Given the description of an element on the screen output the (x, y) to click on. 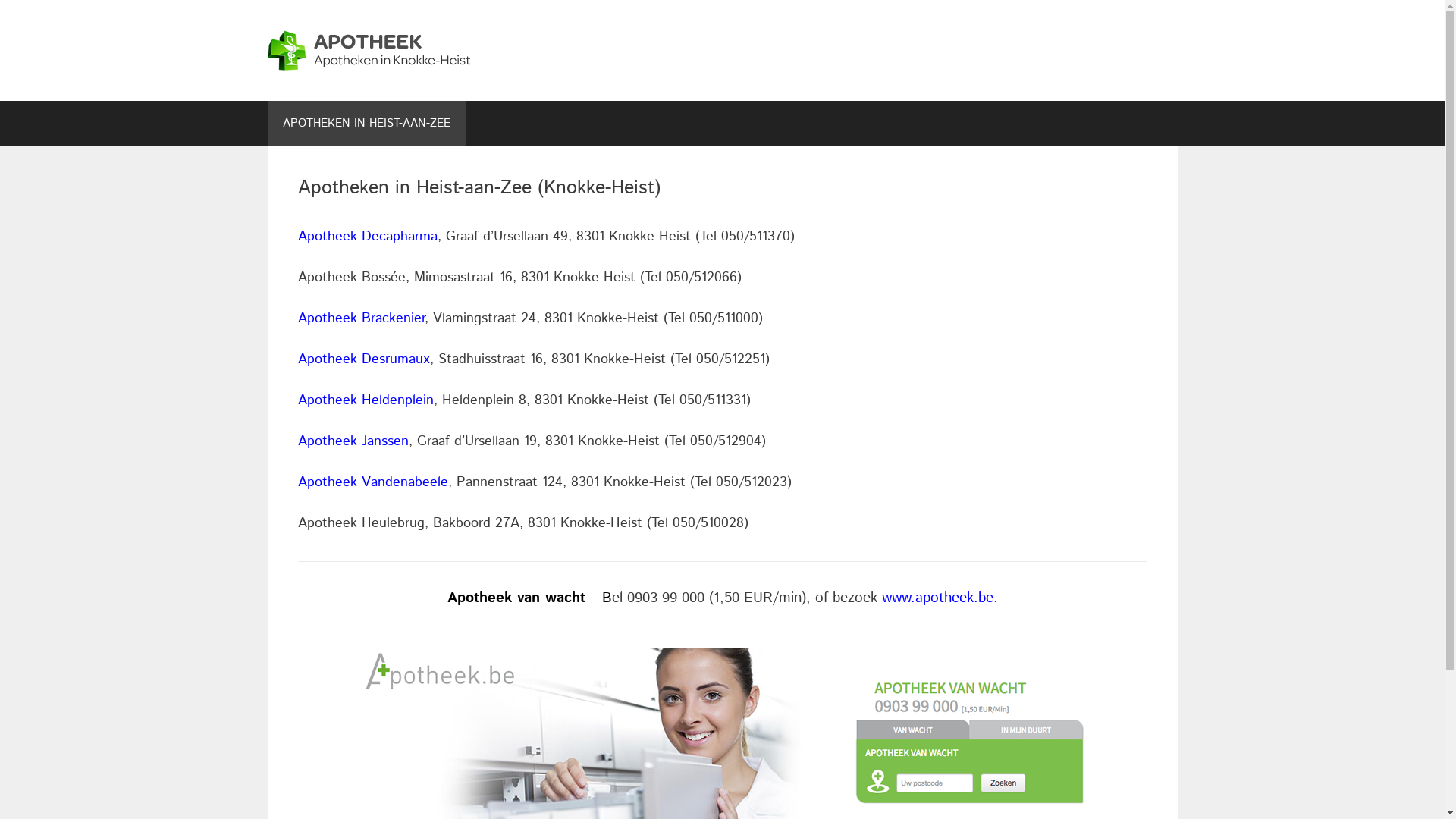
Apotheek Janssen Element type: text (352, 441)
Spring naar inhoud Element type: text (0, 0)
Apotheek Decapharma Element type: text (366, 236)
Apotheek Brackenier Element type: text (360, 318)
APOTHEKEN IN HEIST-AAN-ZEE Element type: text (365, 123)
APOTHEEK HEIST | Apotheek Ballegeer & Decaluwe | Decapharma Element type: hover (399, 49)
APOTHEEK HEIST | Apotheek Ballegeer & Decaluwe | Decapharma Element type: hover (399, 50)
www.apotheek.be Element type: text (936, 597)
Apotheek Desrumaux Element type: text (363, 359)
Apotheek Heldenplein Element type: text (365, 400)
Apotheek Vandenabeele Element type: text (372, 482)
